Given the description of an element on the screen output the (x, y) to click on. 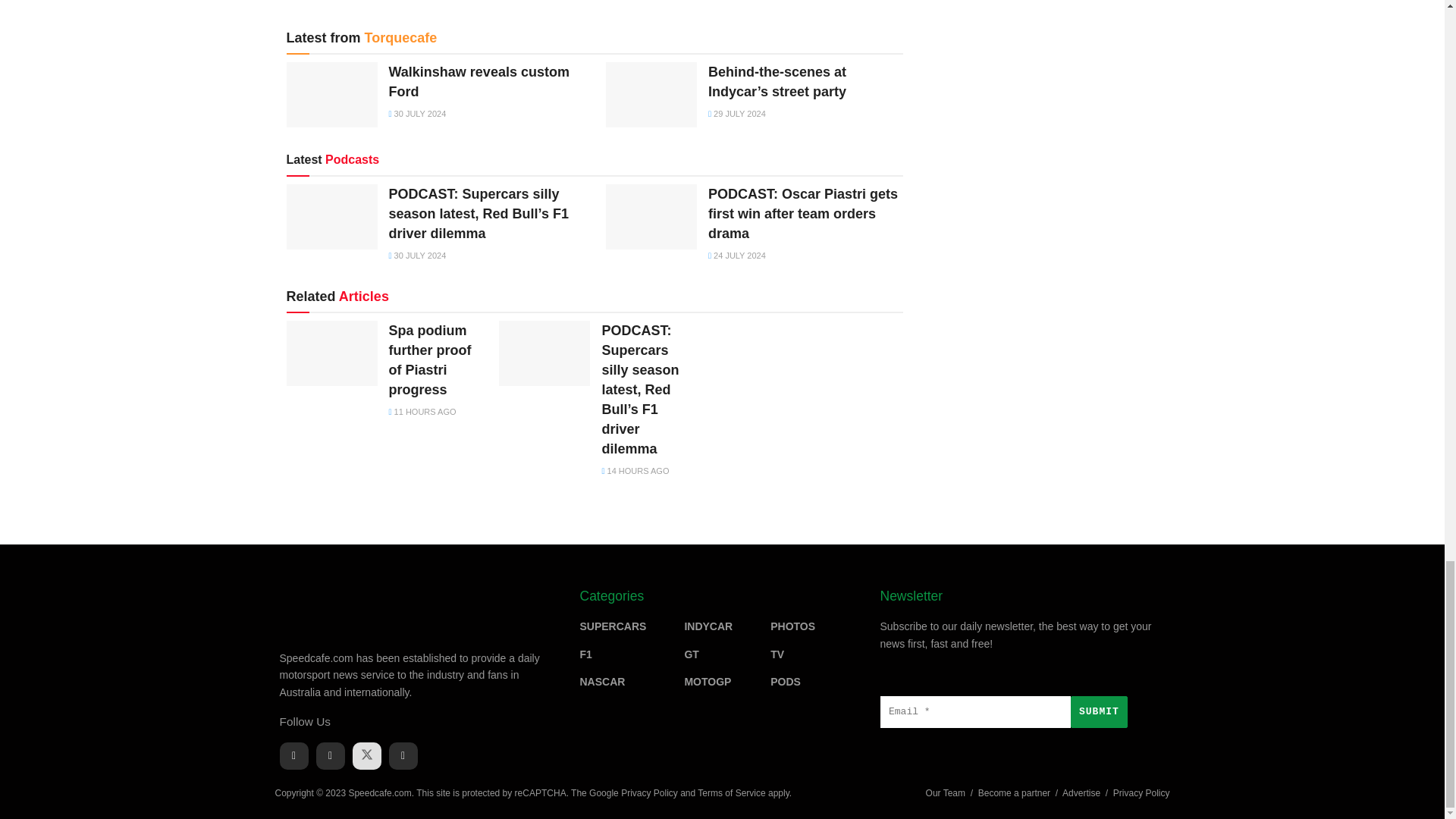
SUBMIT (1098, 712)
